Given the description of an element on the screen output the (x, y) to click on. 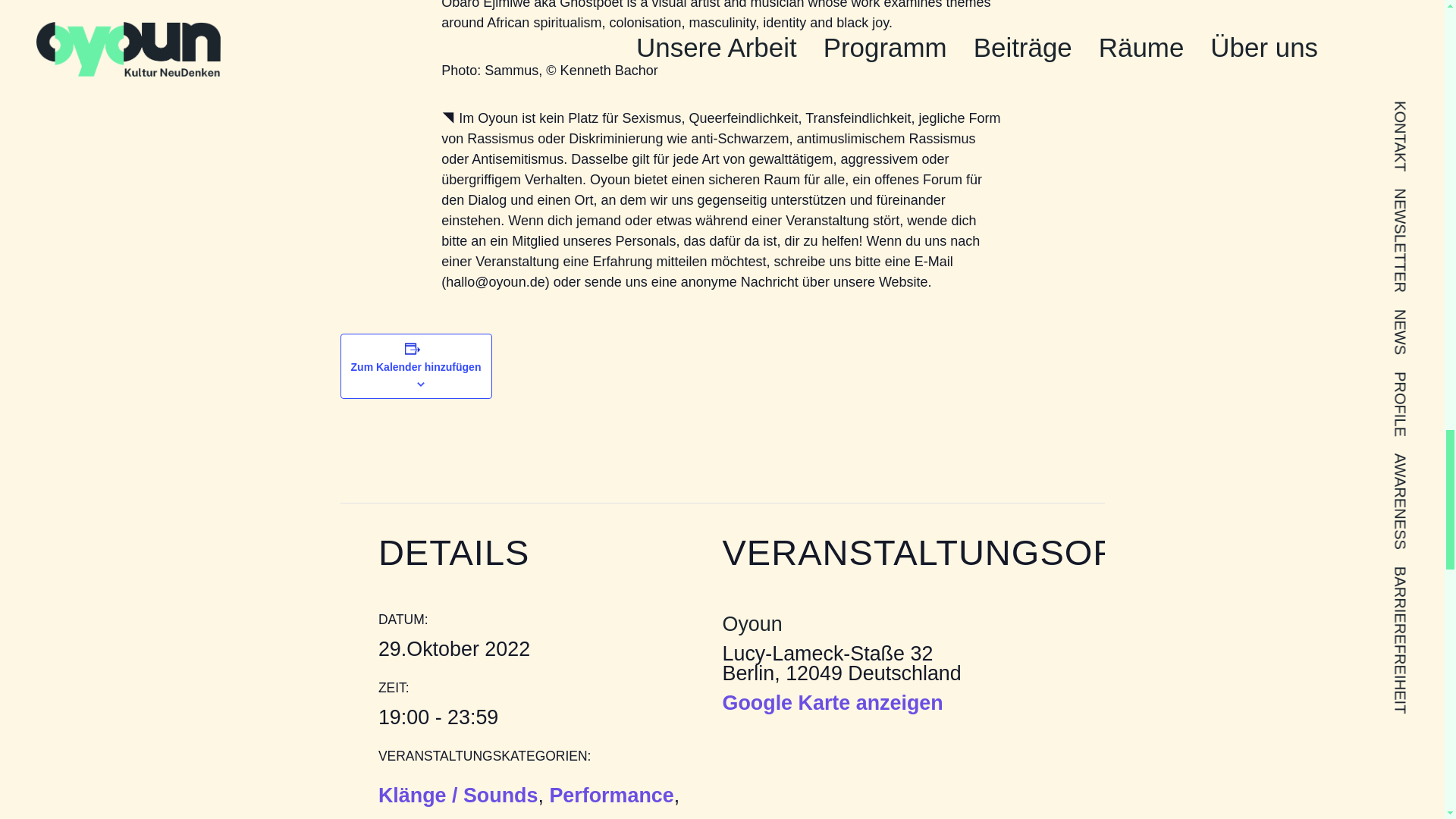
Klicken, um Google Karte anzuzeigen (832, 702)
Oyoun (751, 624)
2022-10-29 (453, 649)
Google Karte anzeigen (832, 702)
2022-10-29 (541, 717)
Performance (610, 796)
